Given the description of an element on the screen output the (x, y) to click on. 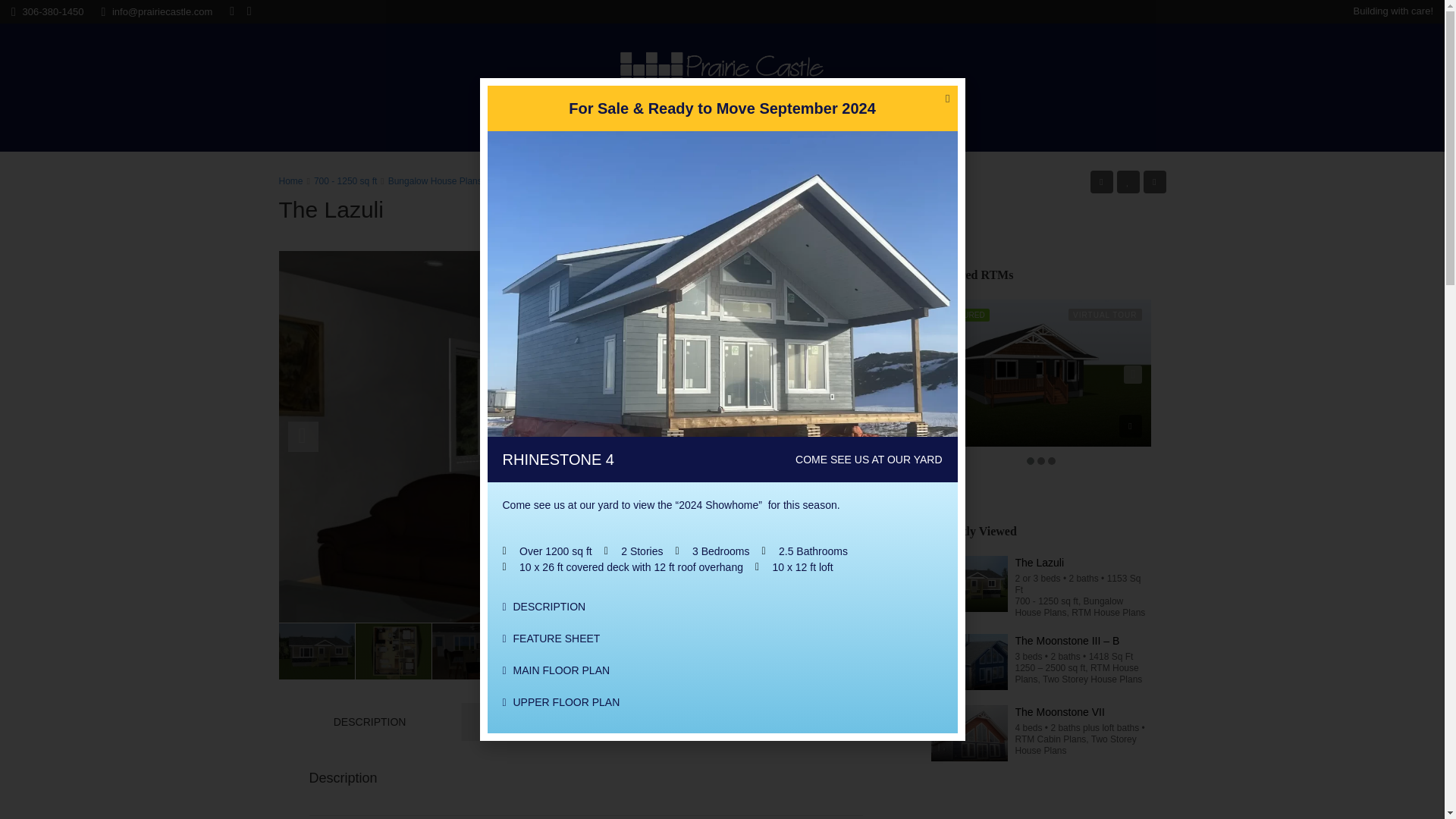
Our Story (629, 132)
Contact (868, 132)
RTM Homes (707, 132)
House Plans (796, 132)
Home (571, 132)
306-380-1450 (46, 11)
